Given the description of an element on the screen output the (x, y) to click on. 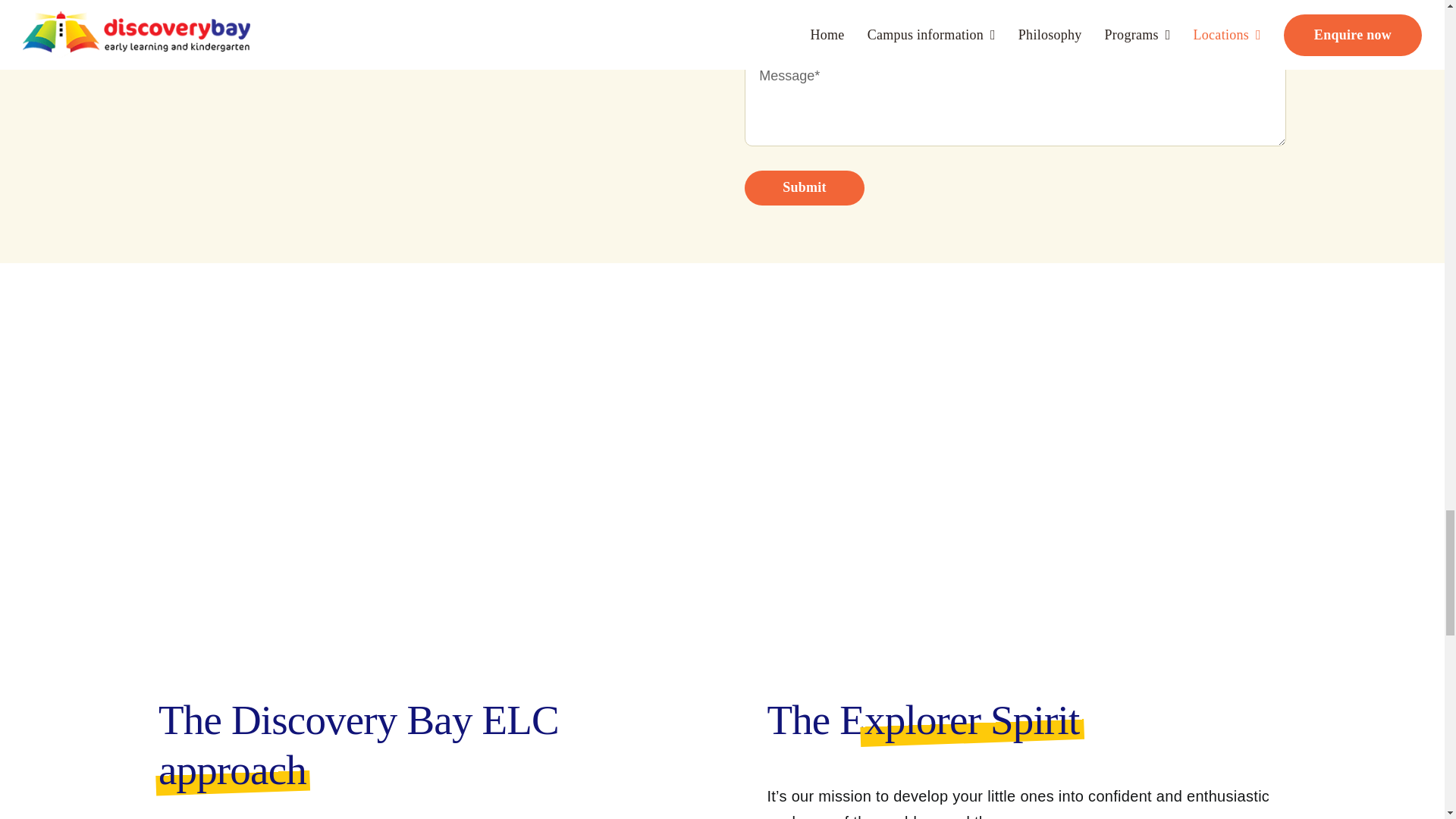
Submit (804, 187)
